Given the description of an element on the screen output the (x, y) to click on. 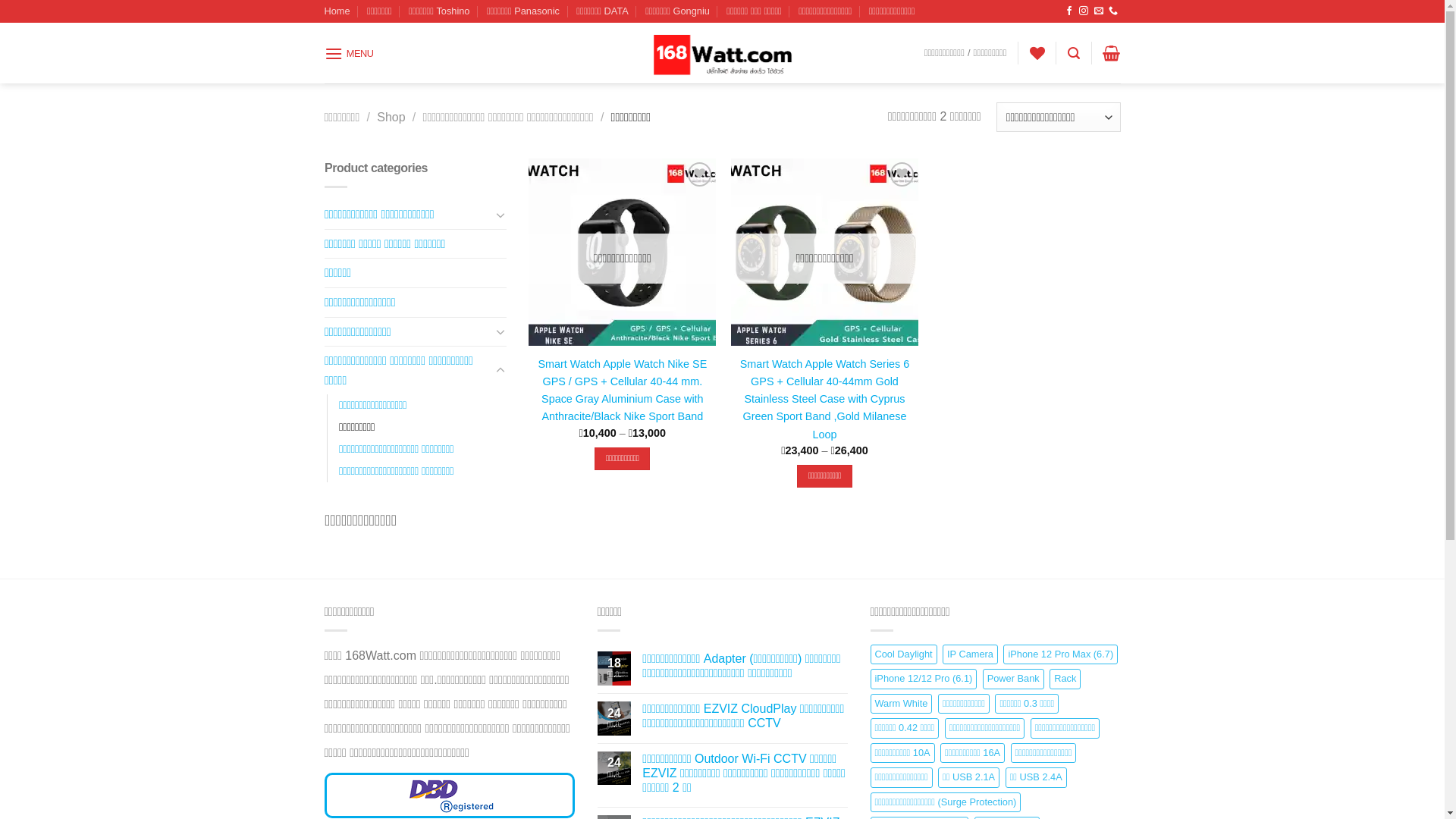
IP Camera Element type: text (969, 654)
iPhone 12/12 Pro (6.1) Element type: text (923, 678)
Home Element type: text (337, 11)
Send us an email Element type: hover (1098, 11)
MENU Element type: text (348, 53)
Cool Daylight Element type: text (903, 654)
Warm White Element type: text (901, 703)
Follow on Instagram Element type: hover (1083, 11)
Power Bank Element type: text (1013, 678)
Call us Element type: hover (1112, 11)
Shop Element type: text (390, 116)
Rack Element type: text (1064, 678)
Follow on Facebook Element type: hover (1068, 11)
iPhone 12 Pro Max (6.7) Element type: text (1060, 654)
